Given the description of an element on the screen output the (x, y) to click on. 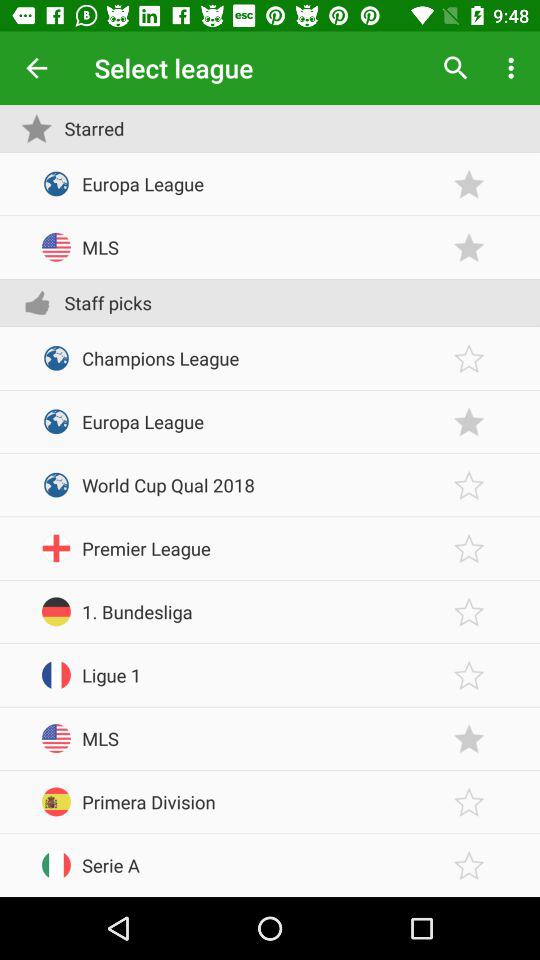
click to put a gold star on this country (469, 865)
